Given the description of an element on the screen output the (x, y) to click on. 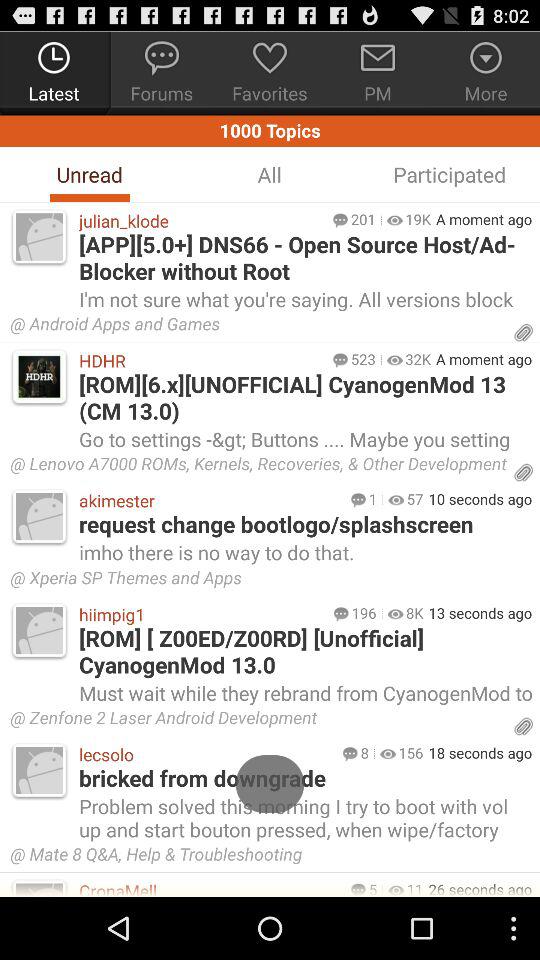
turn on the imho there is app (304, 552)
